Given the description of an element on the screen output the (x, y) to click on. 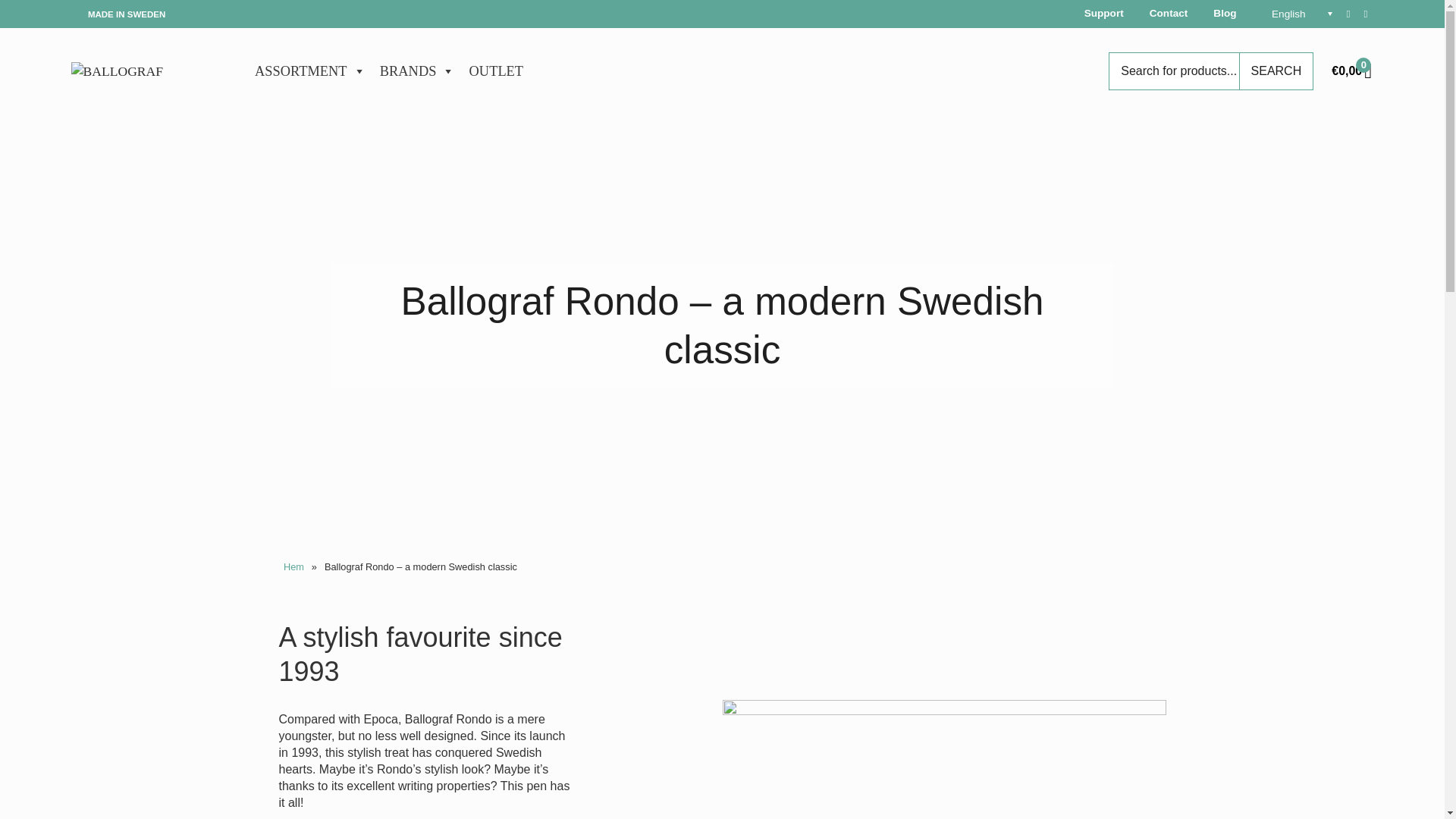
Blog (1224, 13)
BRANDS (416, 70)
English (1294, 13)
Support (1104, 13)
ASSORTMENT (309, 70)
Contact (1169, 13)
